Given the description of an element on the screen output the (x, y) to click on. 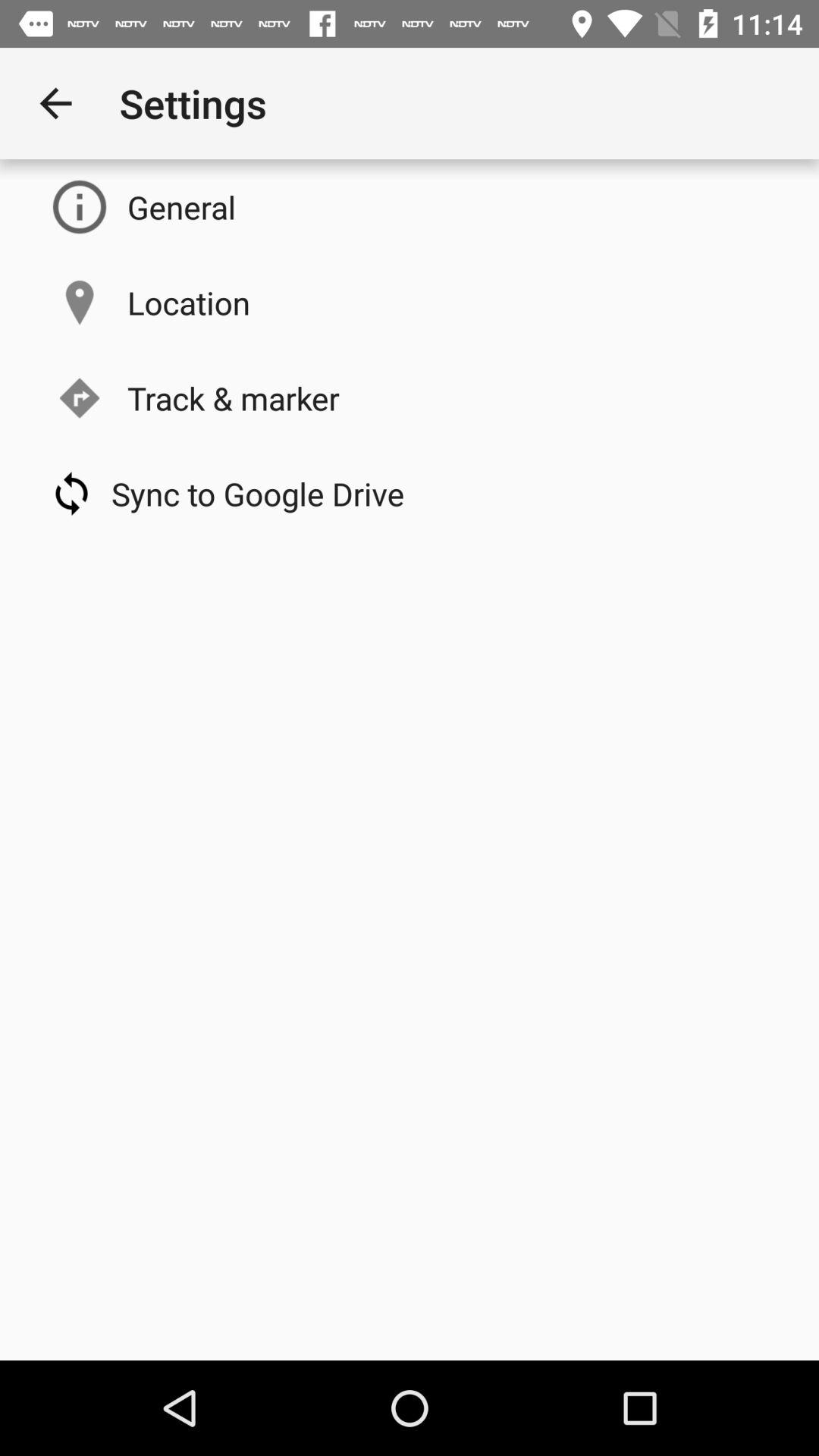
select the icon below the settings app (181, 206)
